Given the description of an element on the screen output the (x, y) to click on. 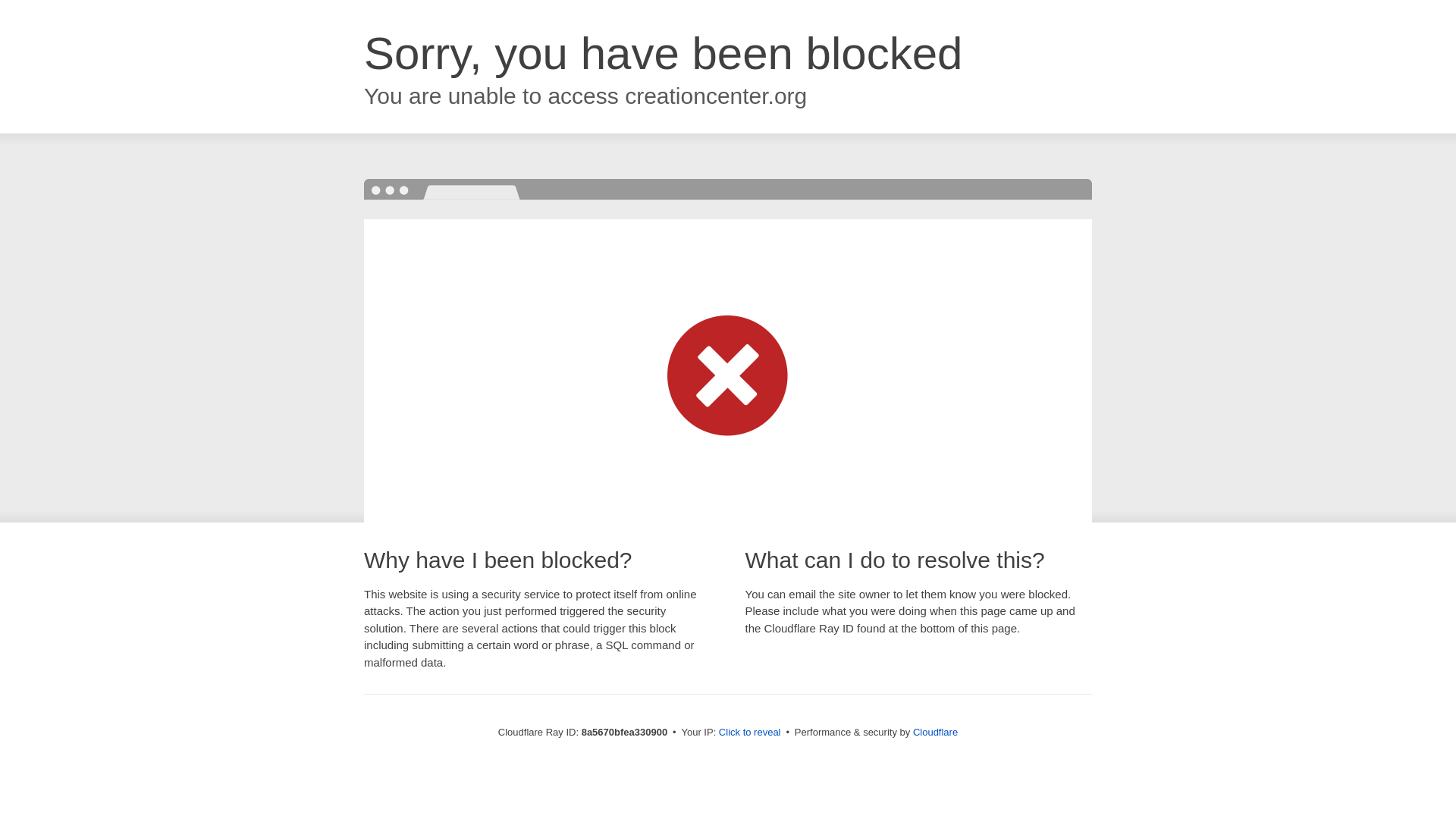
Click to reveal (749, 732)
Cloudflare (935, 731)
